Given the description of an element on the screen output the (x, y) to click on. 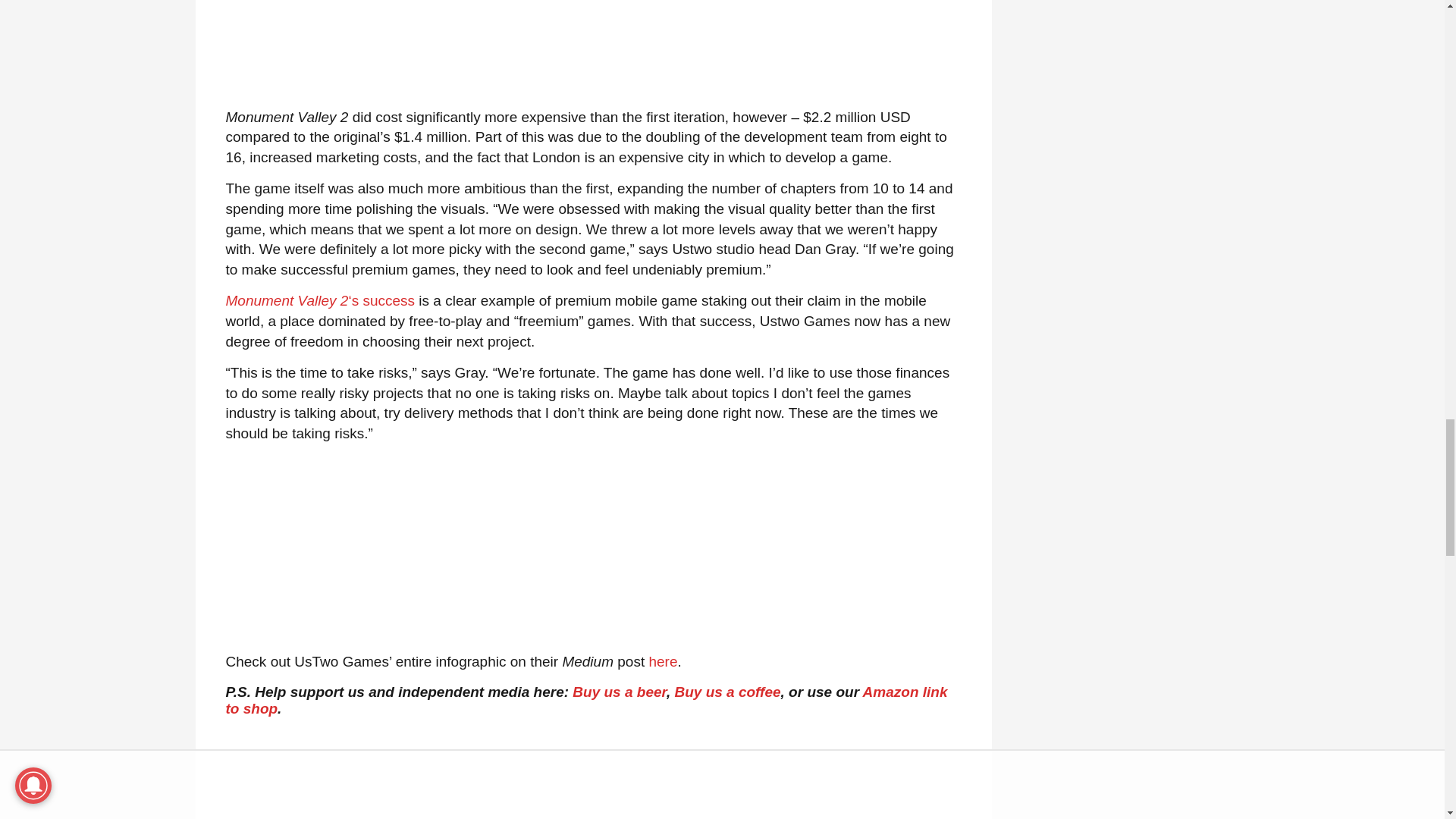
here (662, 661)
